Given the description of an element on the screen output the (x, y) to click on. 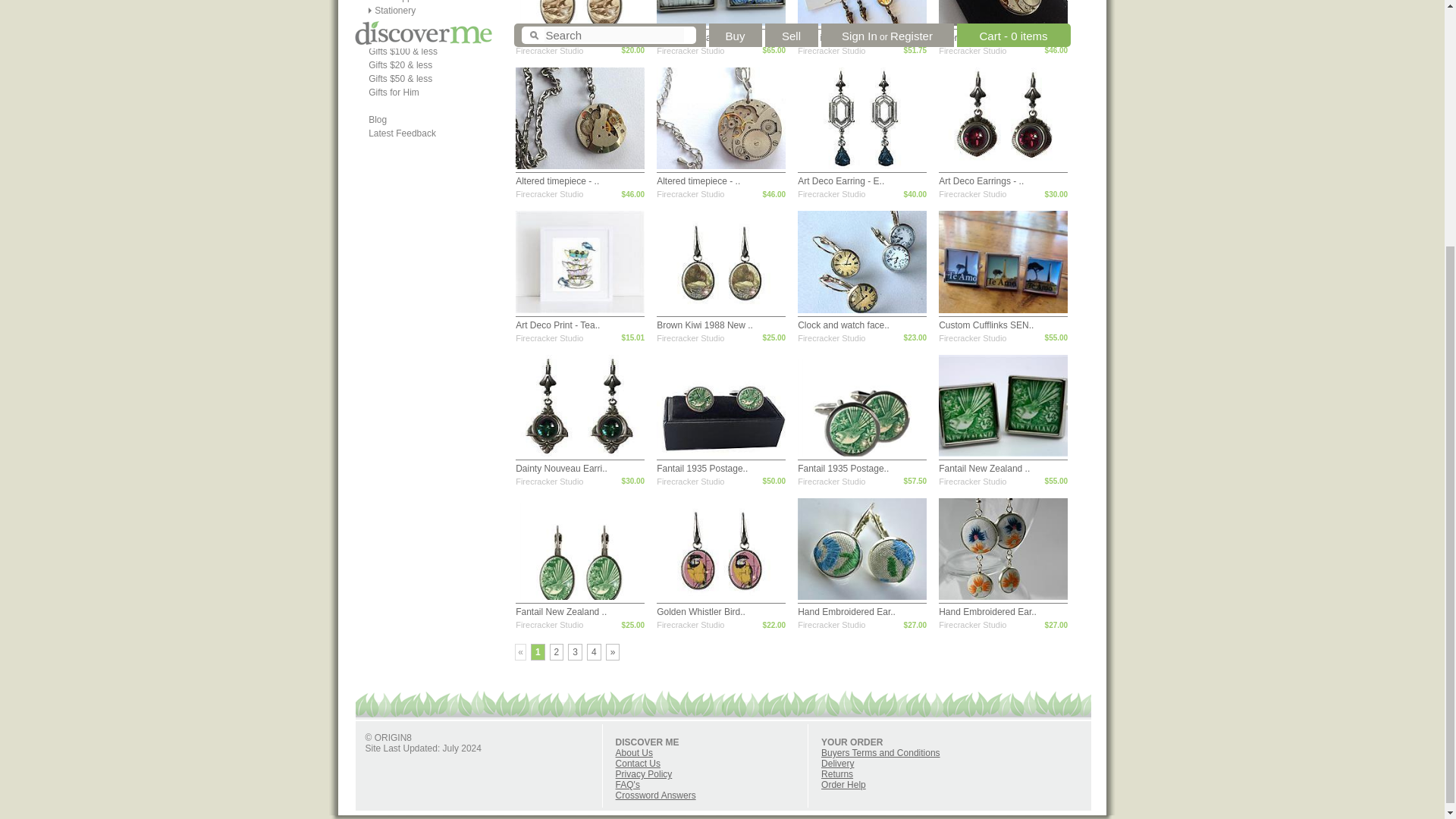
Custom Cufflinks SEND ME AN IMAGE  (986, 325)
Hand Embroidered Earrings Blue and Green (846, 611)
Clock and watch face glass silver plated earrings (843, 325)
Fantail New Zealand Postage Stamp Cufflinks Square (984, 468)
Art Deco Print - Teacup Stack with Cheeky Birds (557, 325)
Hand Embroidered Earrings Orange and Blues (987, 611)
Alice in Wonderland double sided triple drop pendant (841, 37)
Art Deco Earrings - Petite Settings with Vintage Glass (981, 181)
Fantail 1935 Postage Stamp Cufflinks Round (702, 468)
1970 NZ Coat of Arms  original Postage Stamp Cufflinks (703, 37)
Fantail New Zealand Postage Stamp Earrings (561, 611)
